Given the description of an element on the screen output the (x, y) to click on. 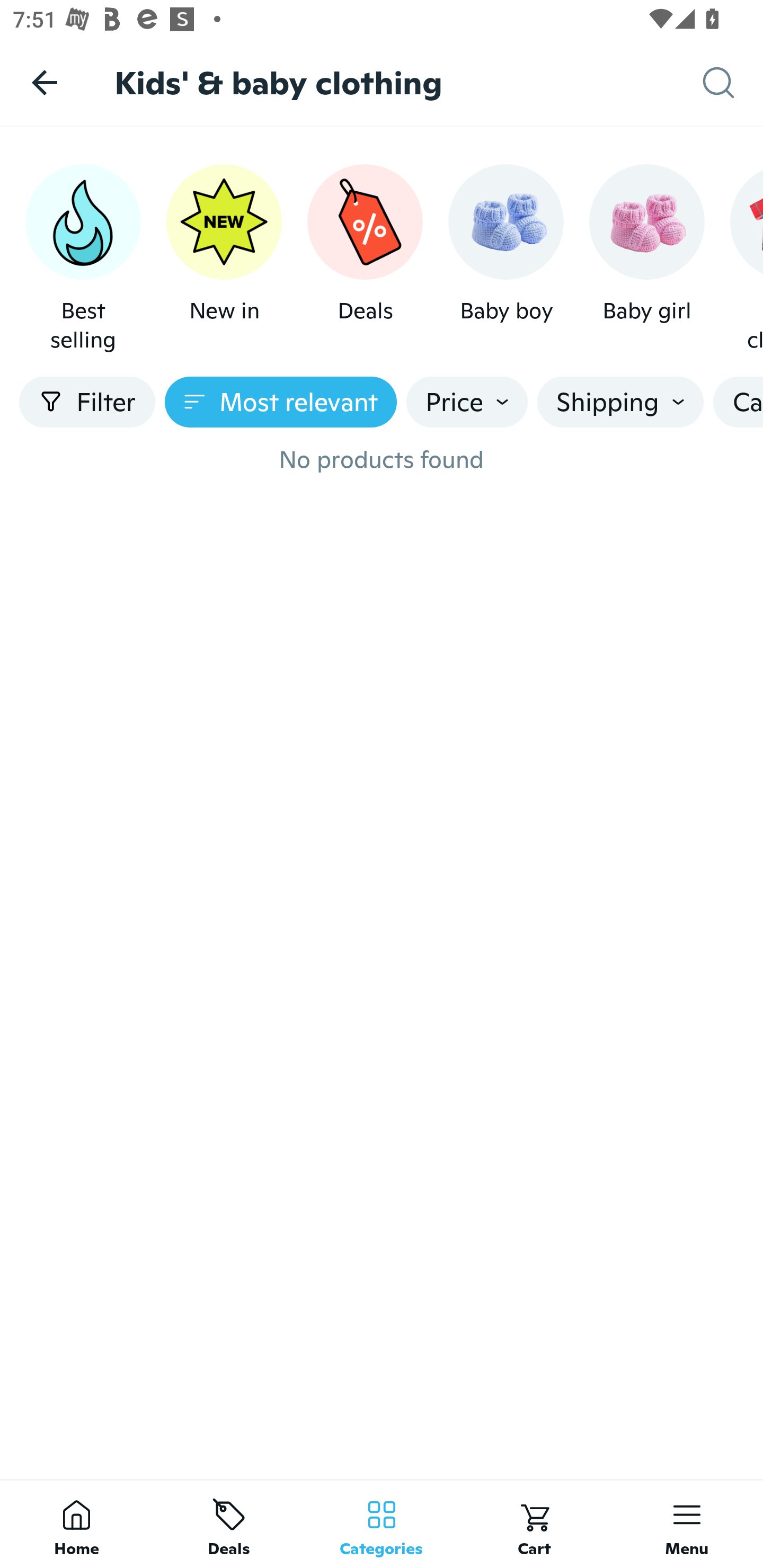
Navigate up (44, 82)
Search (732, 82)
Best selling (83, 259)
New in (223, 259)
Deals (364, 259)
Baby boy (505, 259)
Baby girl (647, 259)
Filter (86, 402)
Most relevant (280, 402)
Price (466, 402)
Shipping (620, 402)
Home (76, 1523)
Deals (228, 1523)
Categories (381, 1523)
Cart (533, 1523)
Menu (686, 1523)
